Given the description of an element on the screen output the (x, y) to click on. 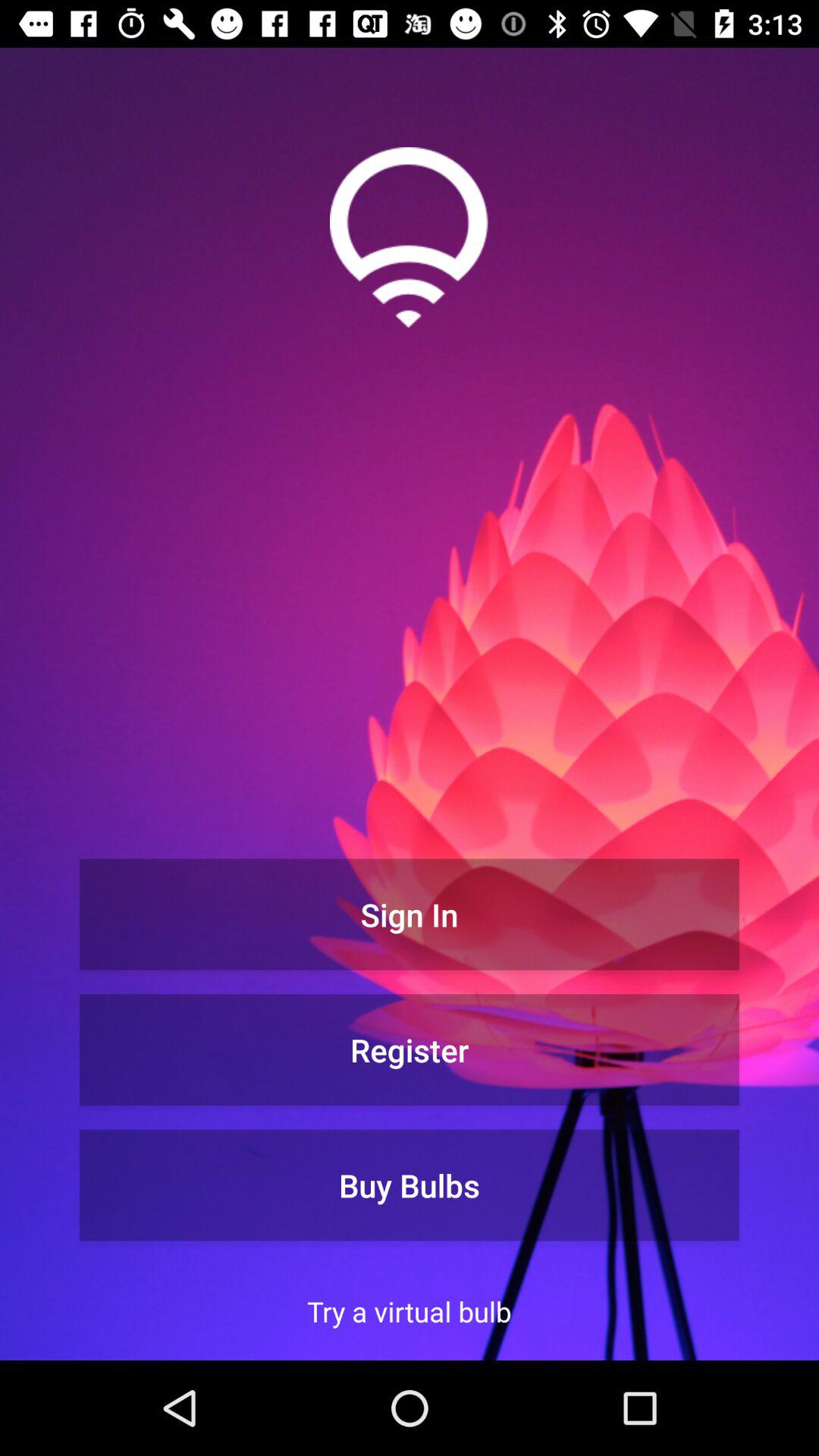
jump to buy bulbs icon (409, 1185)
